Given the description of an element on the screen output the (x, y) to click on. 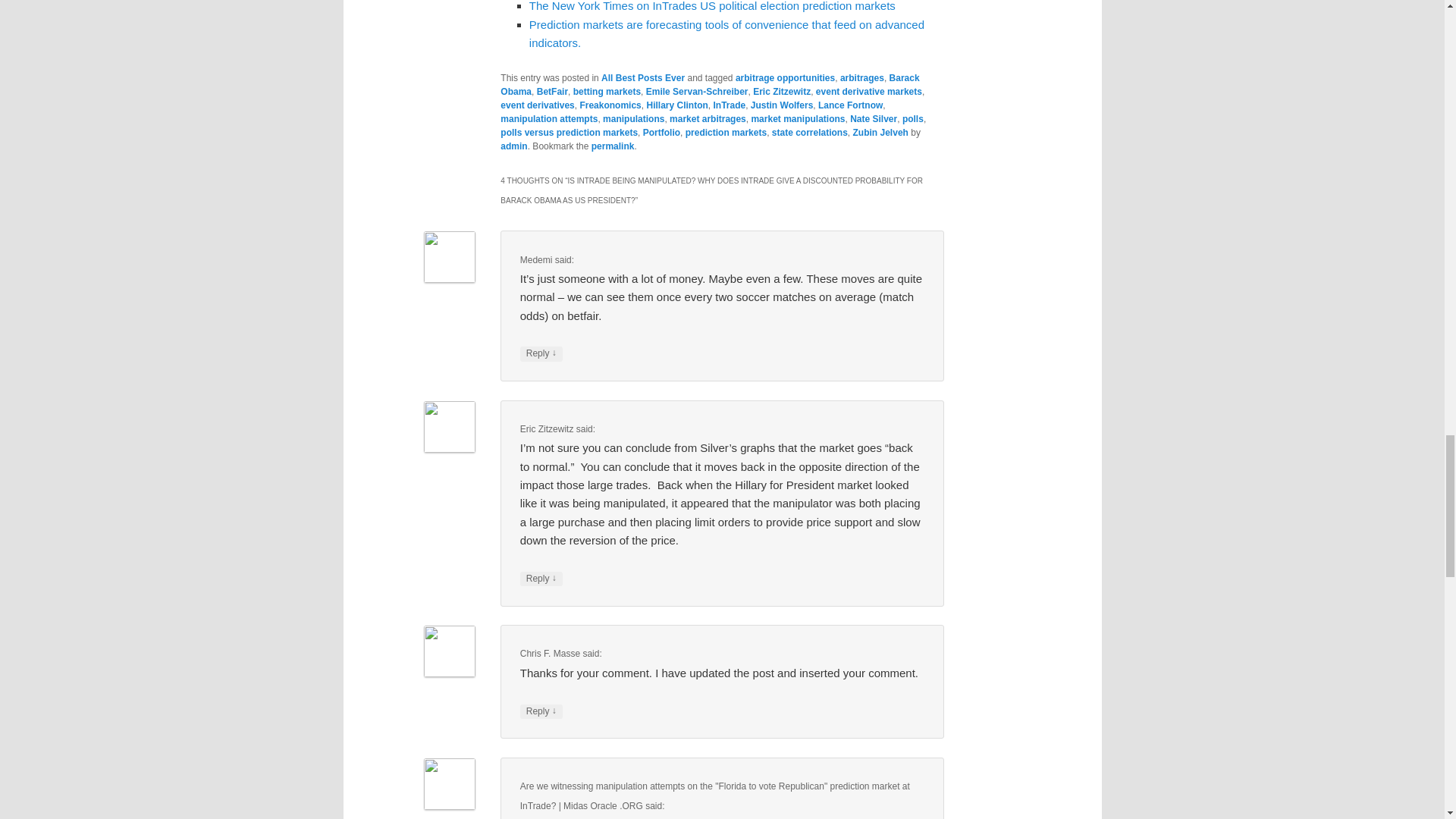
All Best Posts Ever (642, 77)
arbitrages (861, 77)
arbitrage opportunities (784, 77)
